Given the description of an element on the screen output the (x, y) to click on. 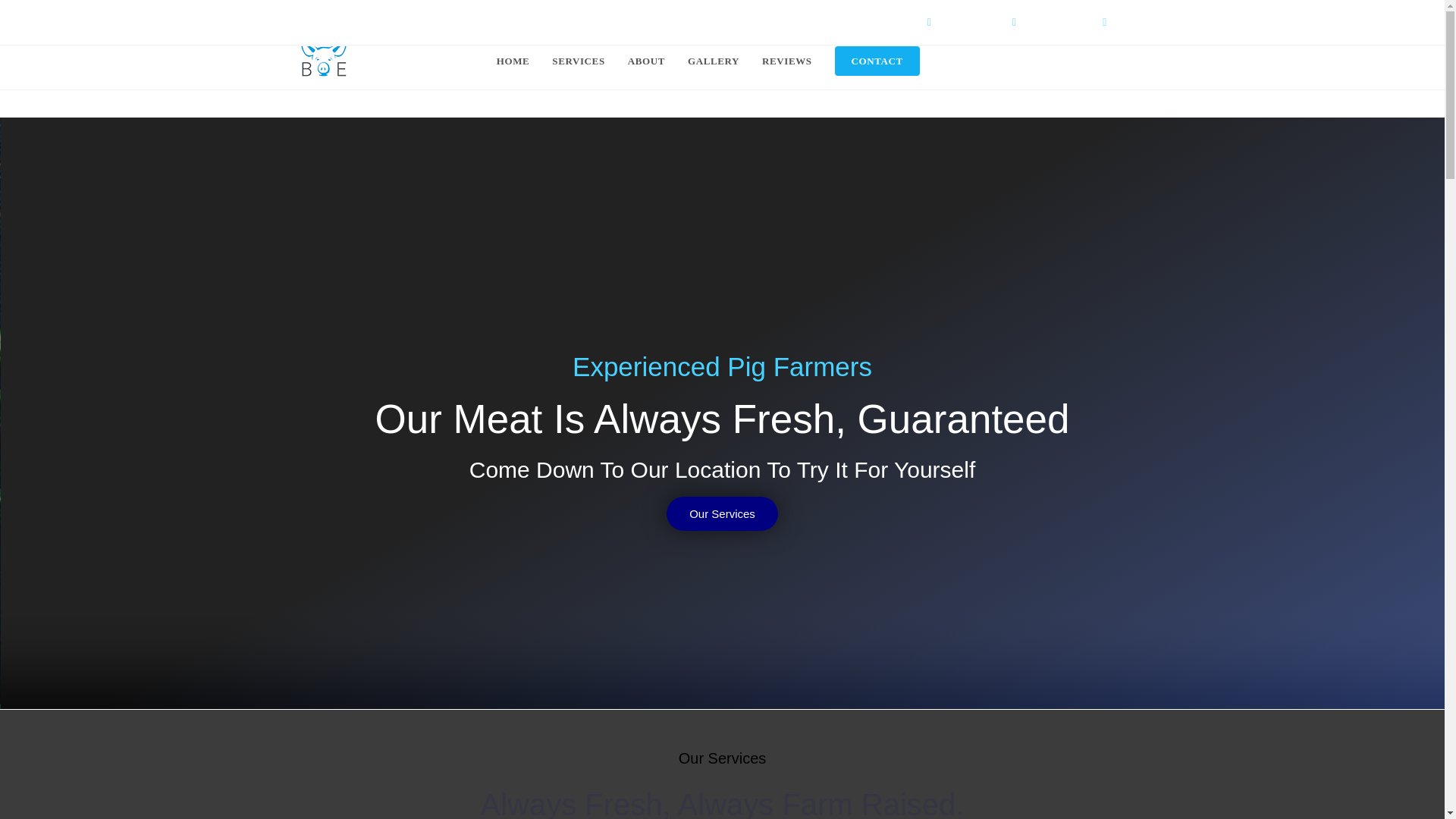
HOME (512, 61)
REVIEWS (787, 61)
GALLERY (714, 61)
CONTACT (877, 61)
Email Now (1135, 22)
ABOUT (646, 61)
Our Services (721, 513)
SERVICES (577, 61)
601-752-5971 (1050, 22)
